Given the description of an element on the screen output the (x, y) to click on. 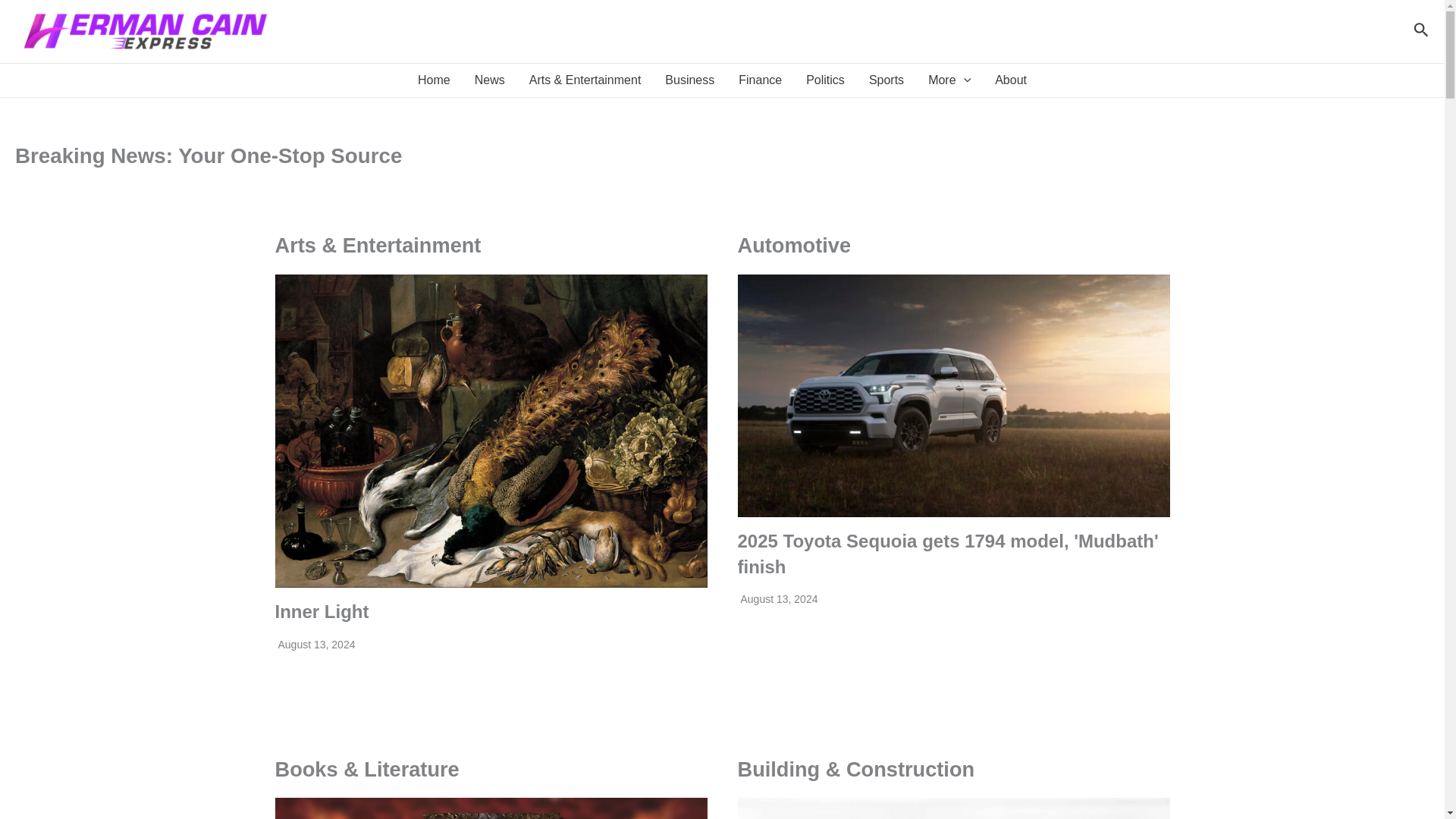
Finance (759, 80)
About (1010, 80)
Home (434, 80)
Sports (886, 80)
Politics (825, 80)
Business (689, 80)
News (489, 80)
More (948, 80)
